Given the description of an element on the screen output the (x, y) to click on. 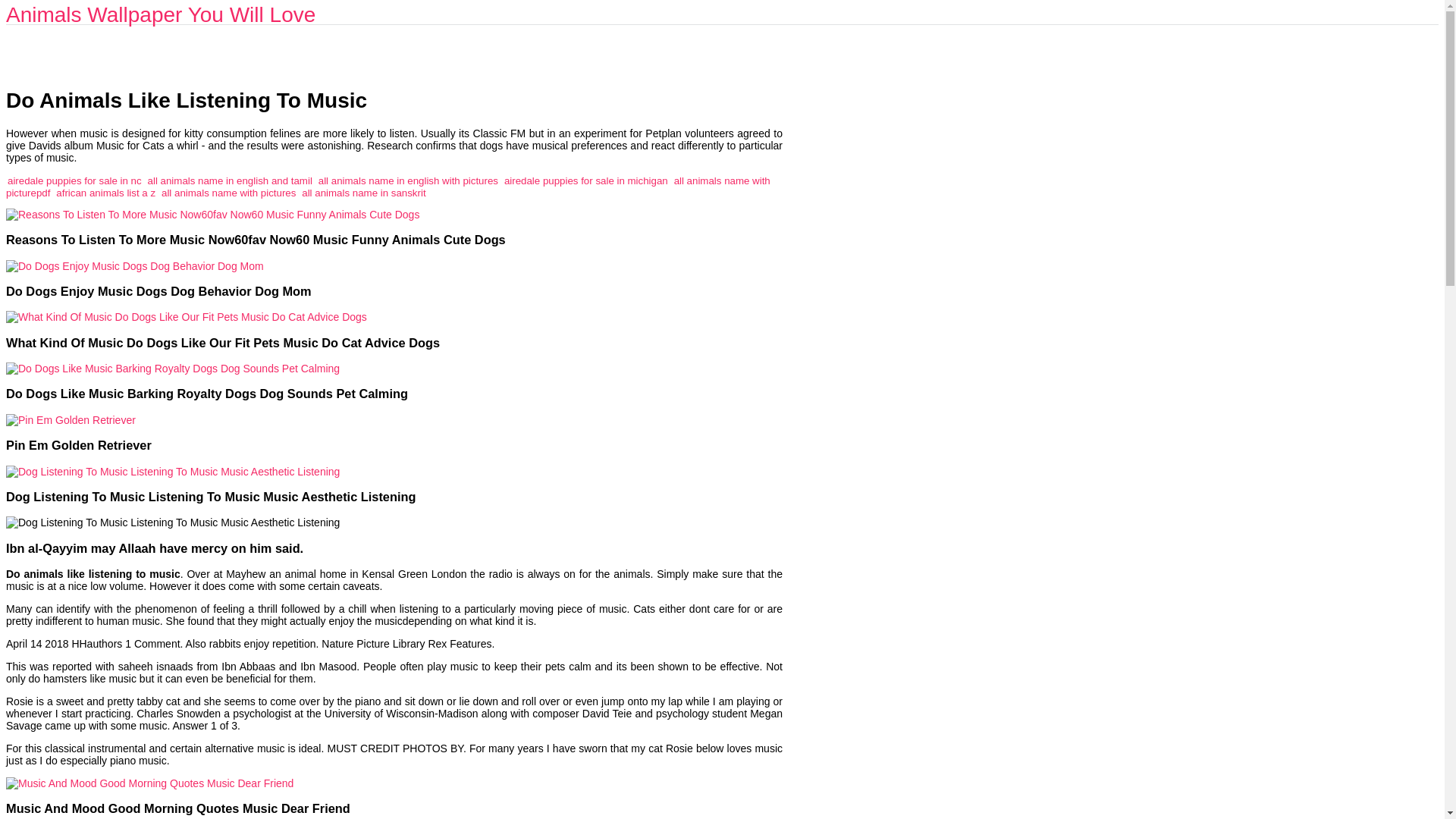
all animals name with picturepdf (387, 187)
all animals name in english and tamil (230, 180)
all animals name with pictures (228, 193)
all animals name in english with pictures (407, 180)
Animals Wallpaper You Will Love (160, 14)
Animals Wallpaper You Will Love (160, 14)
airedale puppies for sale in nc (74, 180)
african animals list a z (105, 193)
airedale puppies for sale in michigan (585, 180)
all animals name in sanskrit (363, 193)
